Given the description of an element on the screen output the (x, y) to click on. 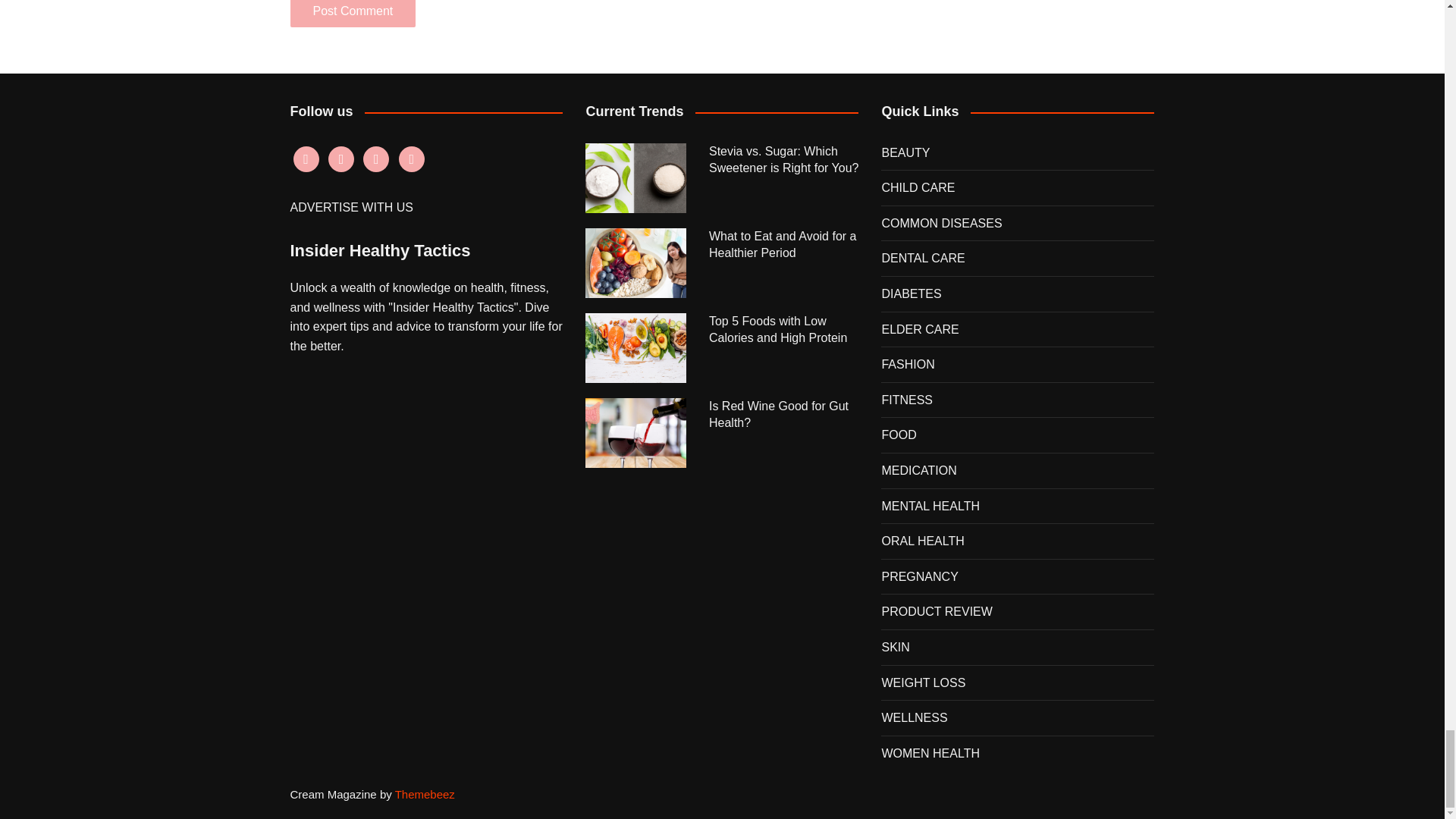
facebook (305, 157)
Instagram (341, 157)
Post Comment (351, 13)
instagram (341, 157)
youtube (375, 157)
Post Comment (351, 13)
ADVERTISE WITH US (350, 206)
mail (411, 157)
Facebook (305, 157)
